Given the description of an element on the screen output the (x, y) to click on. 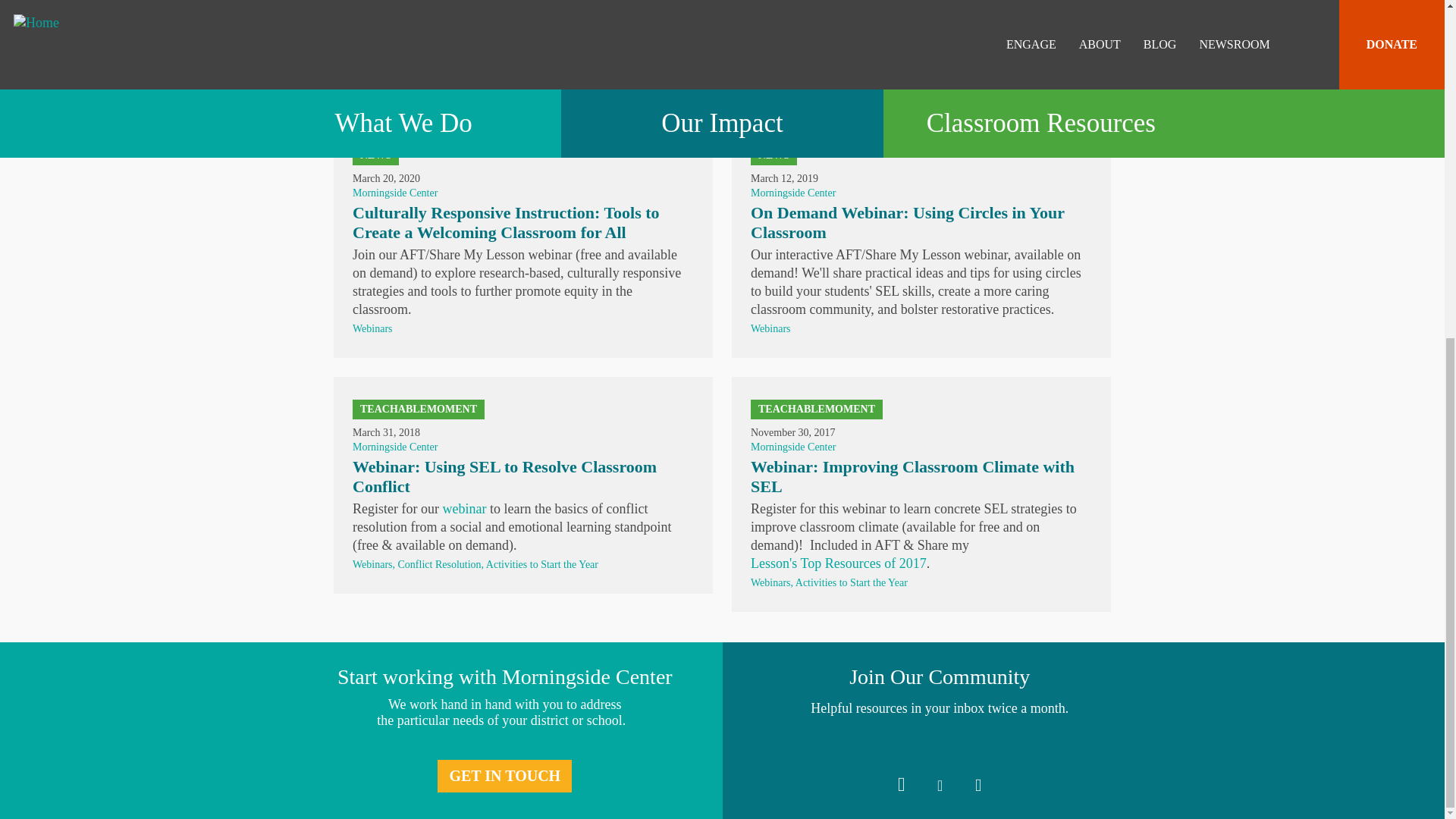
Webinars (770, 328)
Introducing White Educators to the Affinity Group Process (907, 2)
Morningside Center (793, 193)
Webinars (373, 564)
Webinars (770, 74)
Activities to Start the Year (542, 564)
Webinars (373, 74)
Webinars (372, 328)
Morningside Center (395, 446)
